Given the description of an element on the screen output the (x, y) to click on. 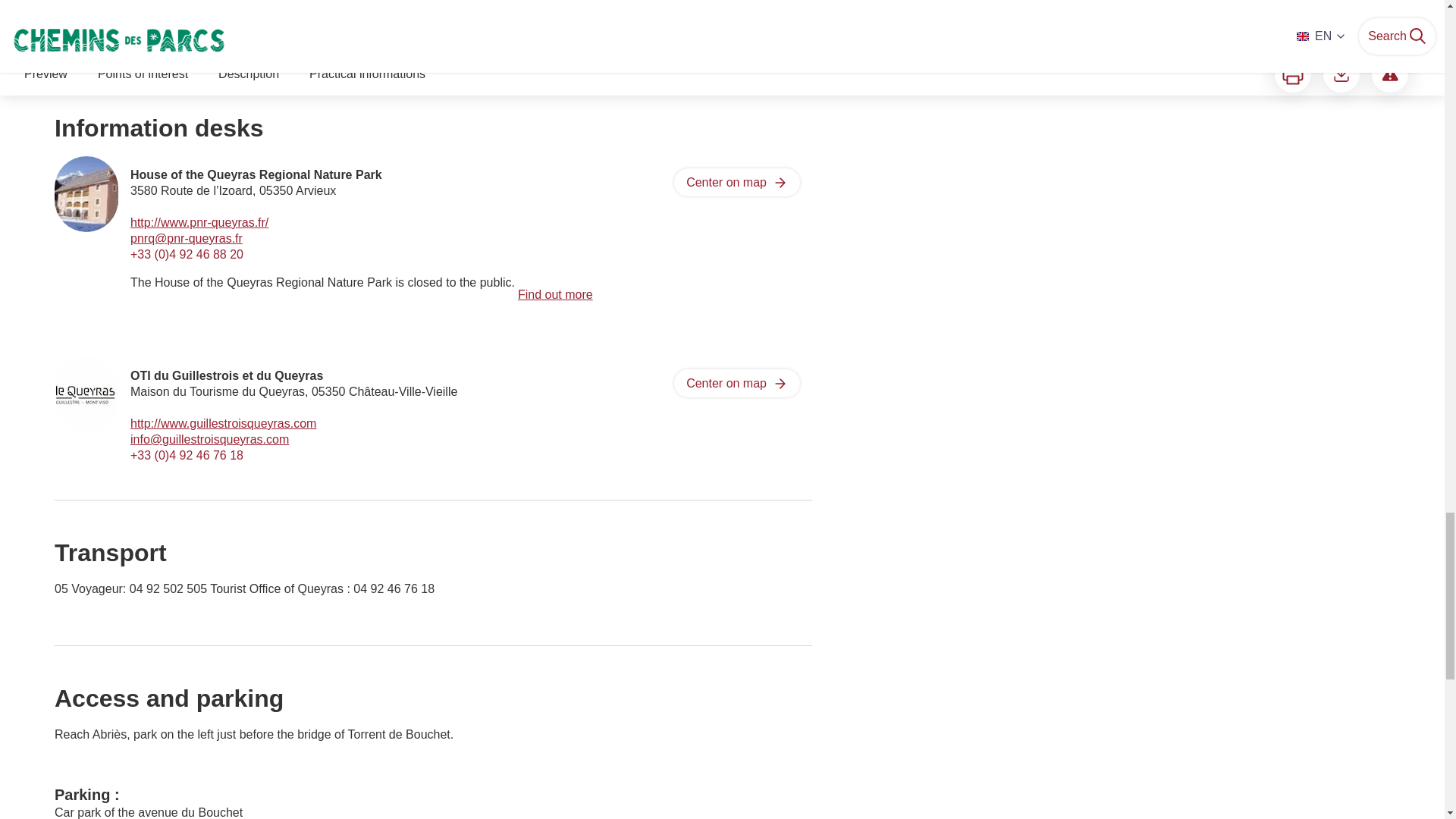
Center on map (736, 182)
Center on map (736, 383)
